Given the description of an element on the screen output the (x, y) to click on. 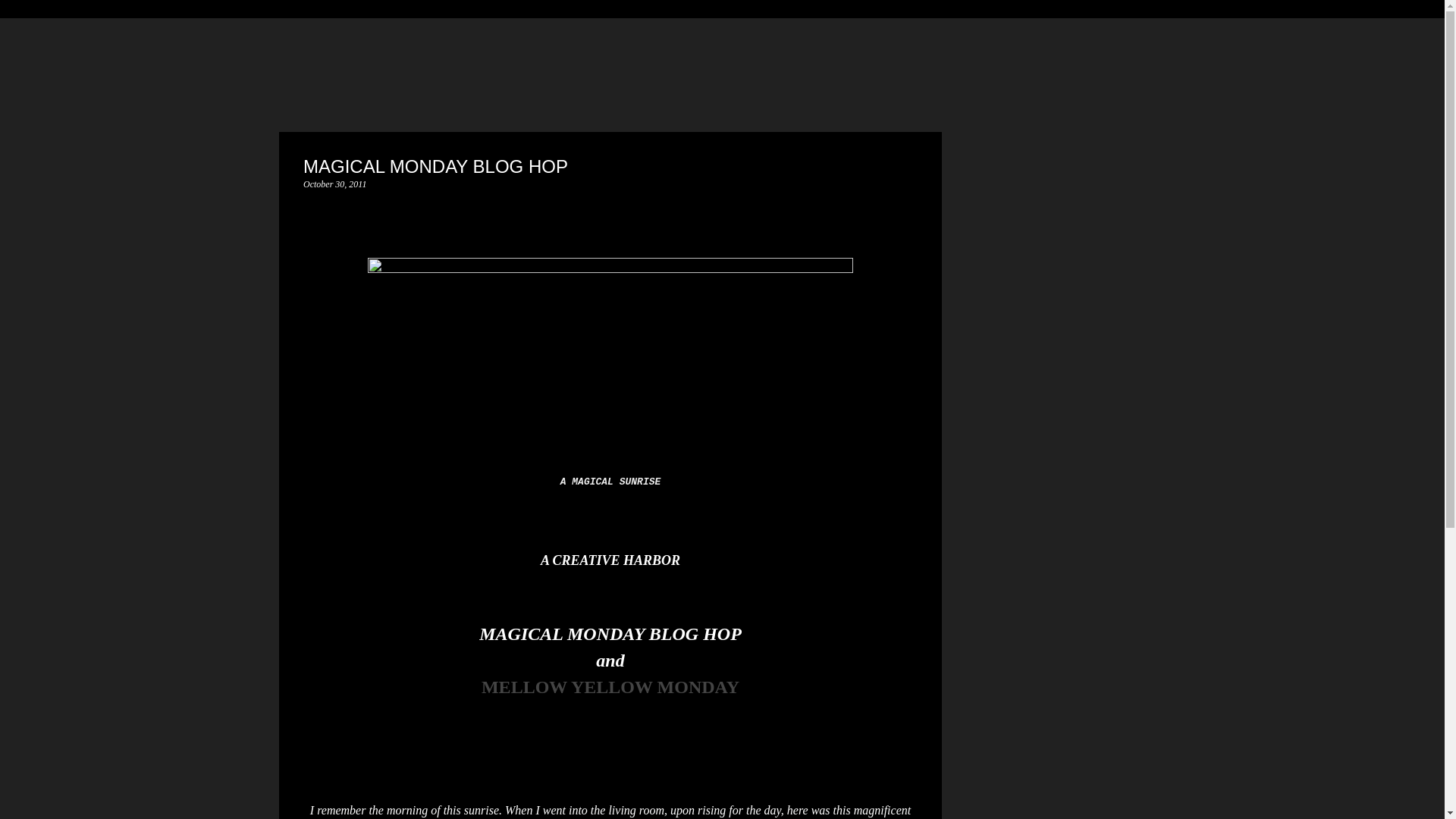
MELLOW YELLOW MONDAY (610, 686)
permanent link (334, 184)
October 30, 2011 (334, 184)
